Given the description of an element on the screen output the (x, y) to click on. 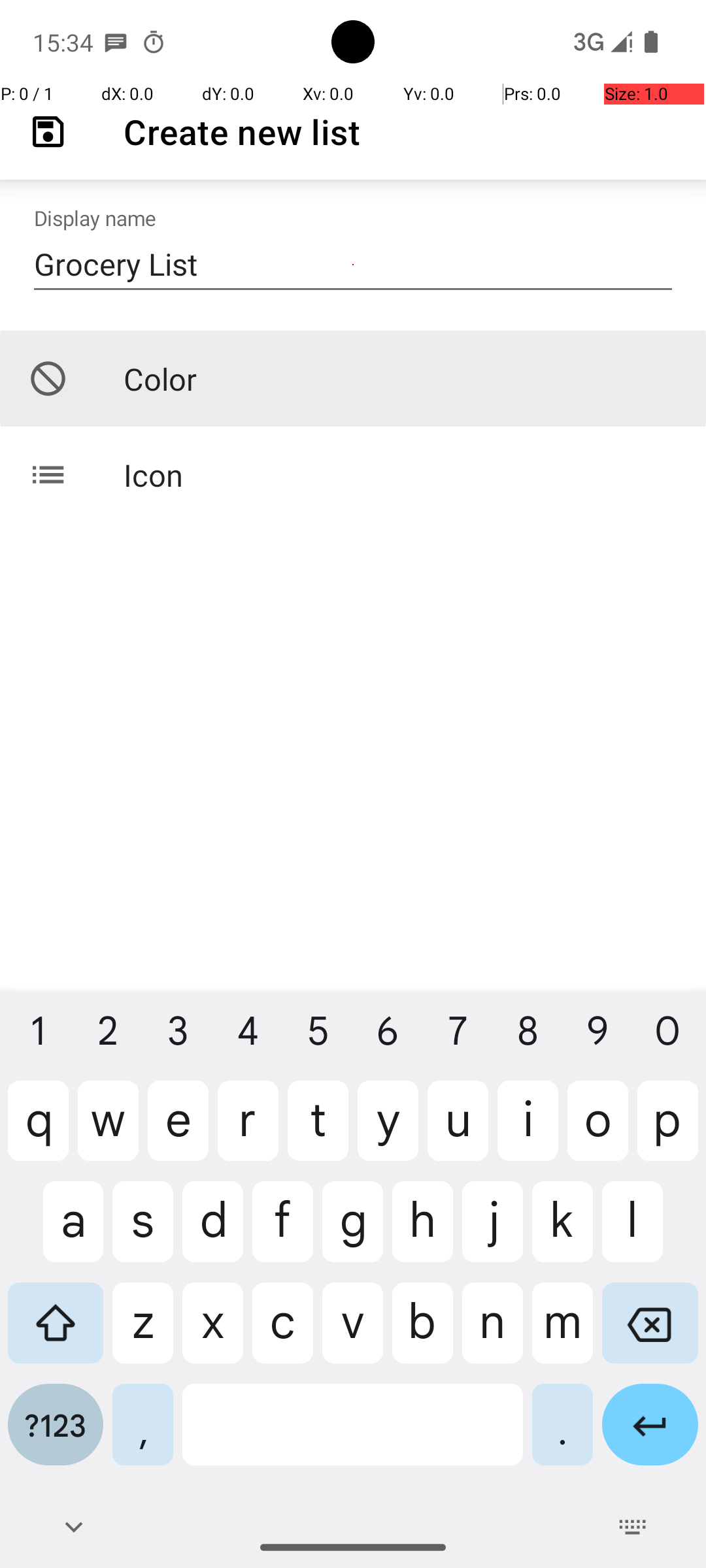
Create new list Element type: android.widget.TextView (241, 131)
Icon Element type: android.widget.TextView (352, 474)
